Given the description of an element on the screen output the (x, y) to click on. 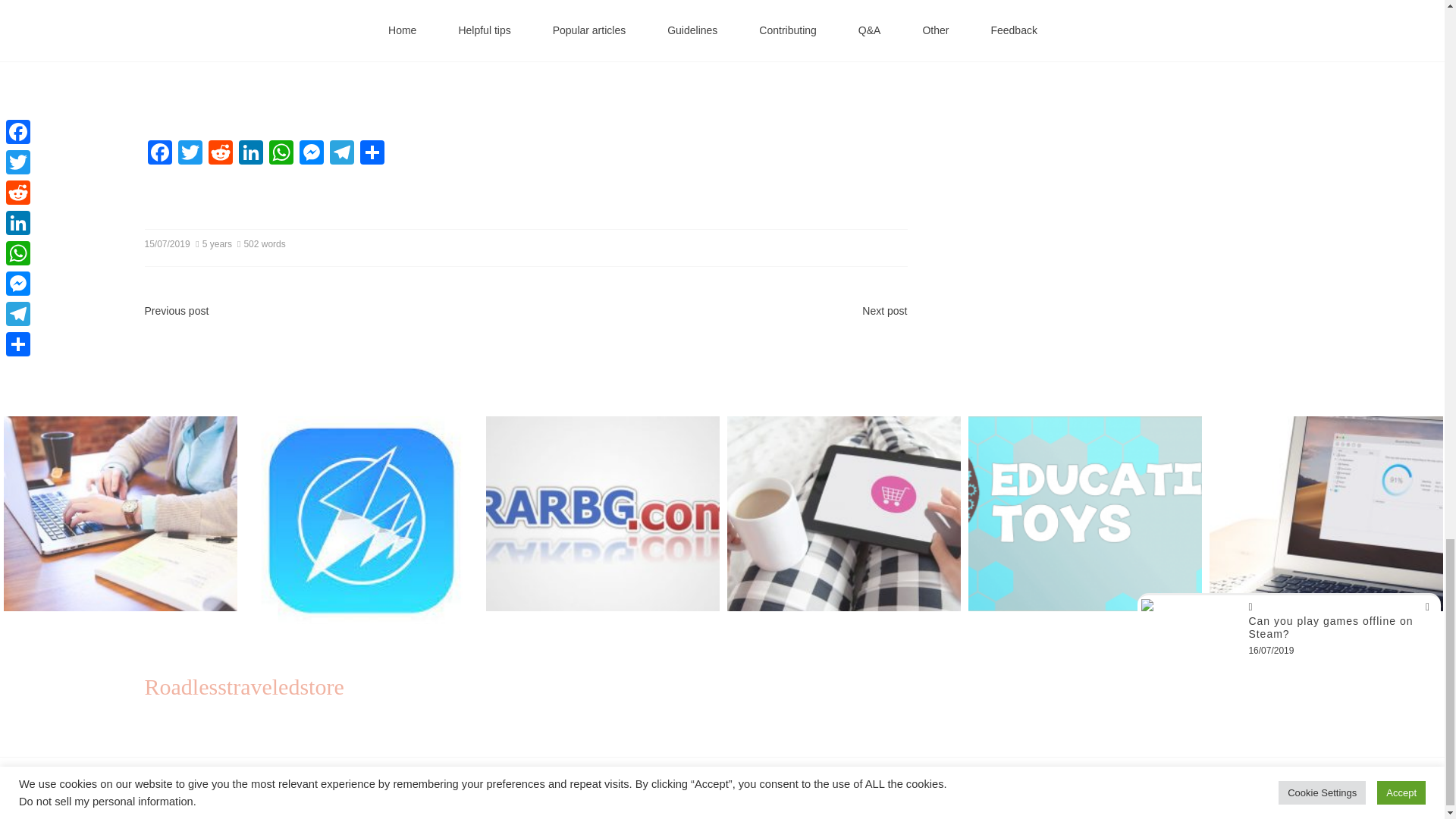
Messenger (310, 154)
Reddit (219, 154)
LinkedIn (249, 154)
Twitter (189, 154)
502 words (262, 243)
Facebook (159, 154)
Facebook (159, 154)
WhatsApp (279, 154)
Messenger (310, 154)
WhatsApp (279, 154)
Telegram (341, 154)
Reddit (219, 154)
5 years (214, 243)
Telegram (341, 154)
Next post (884, 310)
